Given the description of an element on the screen output the (x, y) to click on. 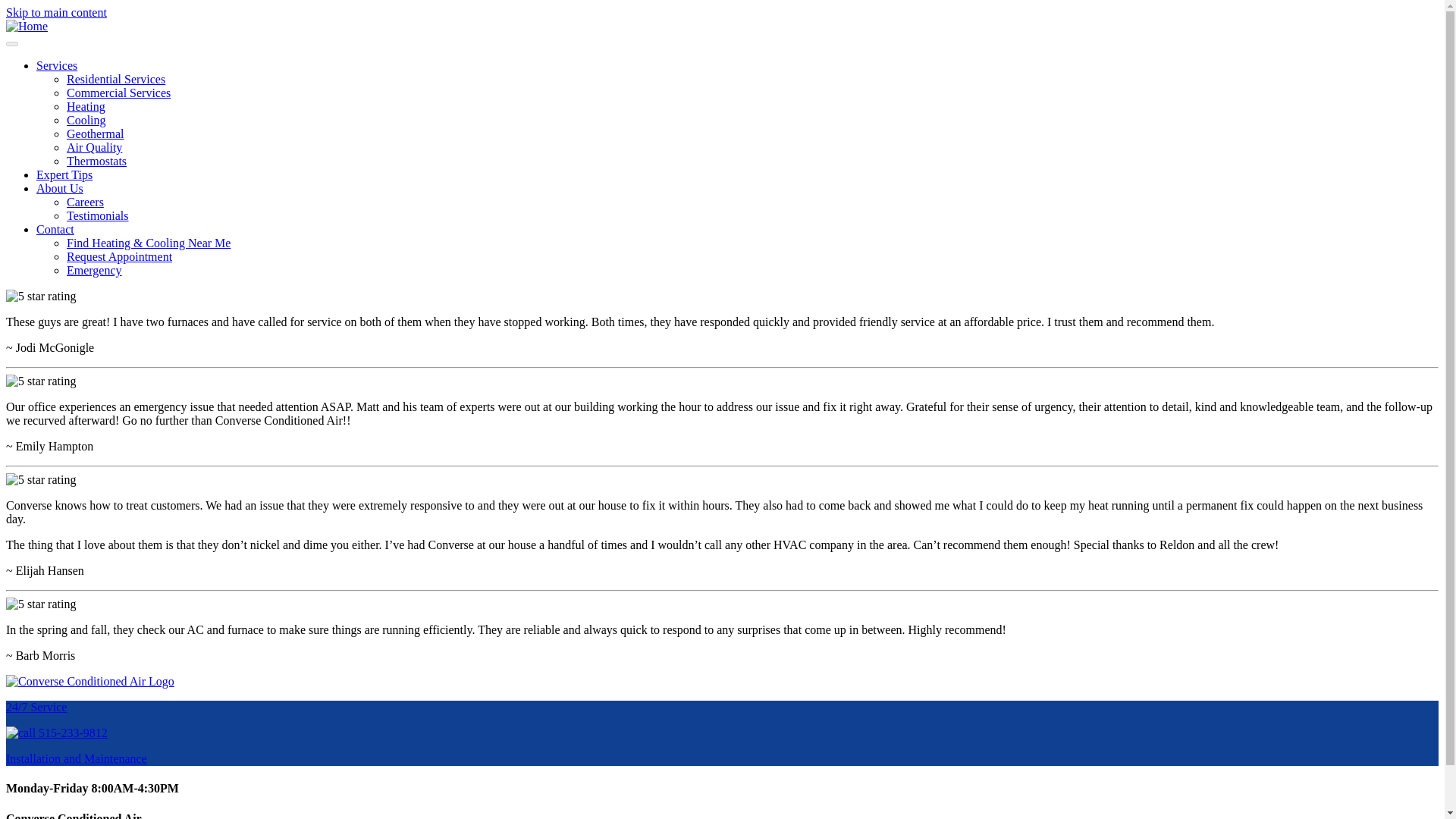
Request Appointment (118, 256)
Emergency (94, 269)
Thermostats (96, 160)
Residential Services (115, 78)
Heating (85, 106)
Testimonials (97, 215)
Air Quality (94, 146)
Skip to main content (55, 11)
Commercial Services (118, 92)
Expand menu Services (56, 65)
